Given the description of an element on the screen output the (x, y) to click on. 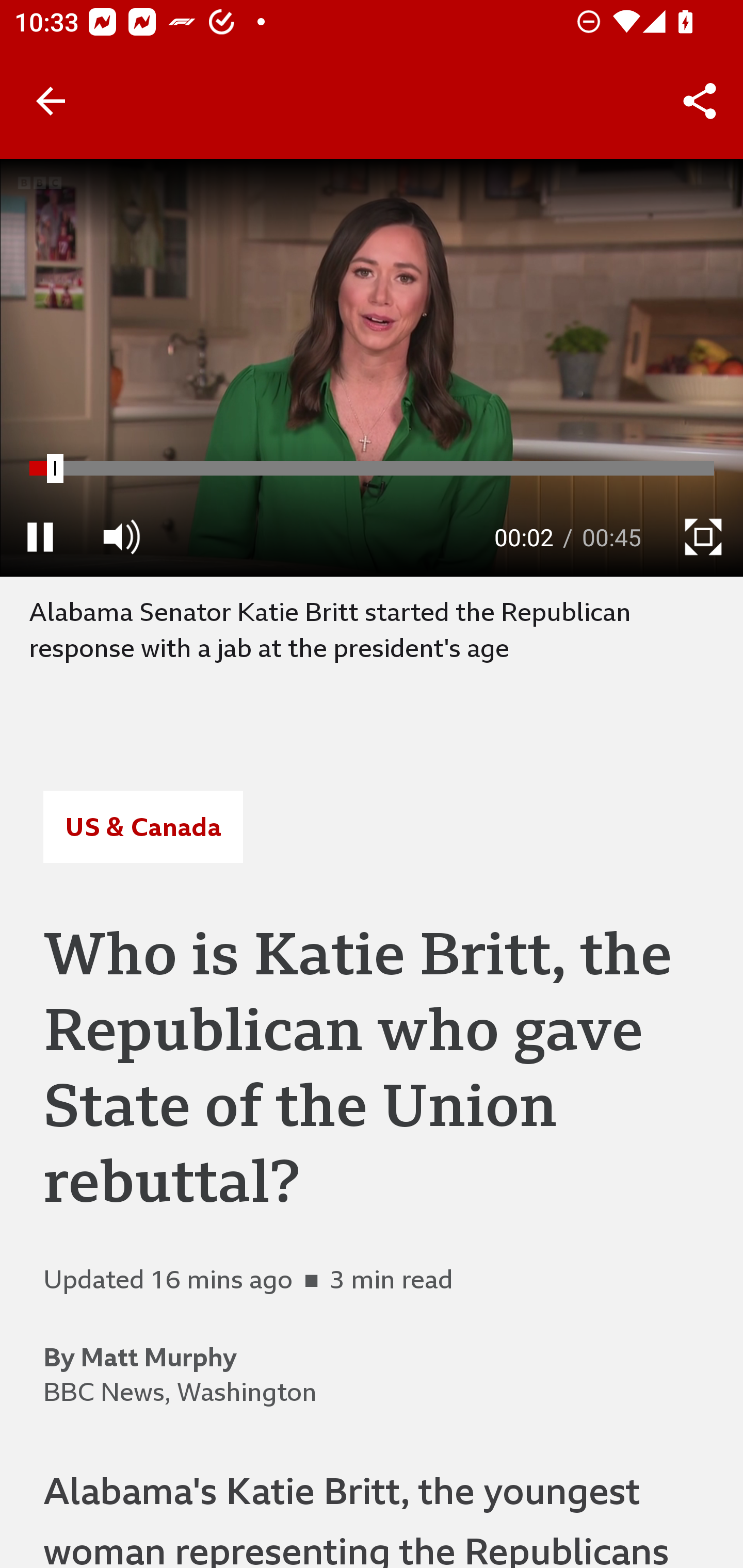
Back (50, 101)
Share (699, 101)
volume (121, 537)
enter fullscreen (703, 537)
US & Canada (142, 827)
